Given the description of an element on the screen output the (x, y) to click on. 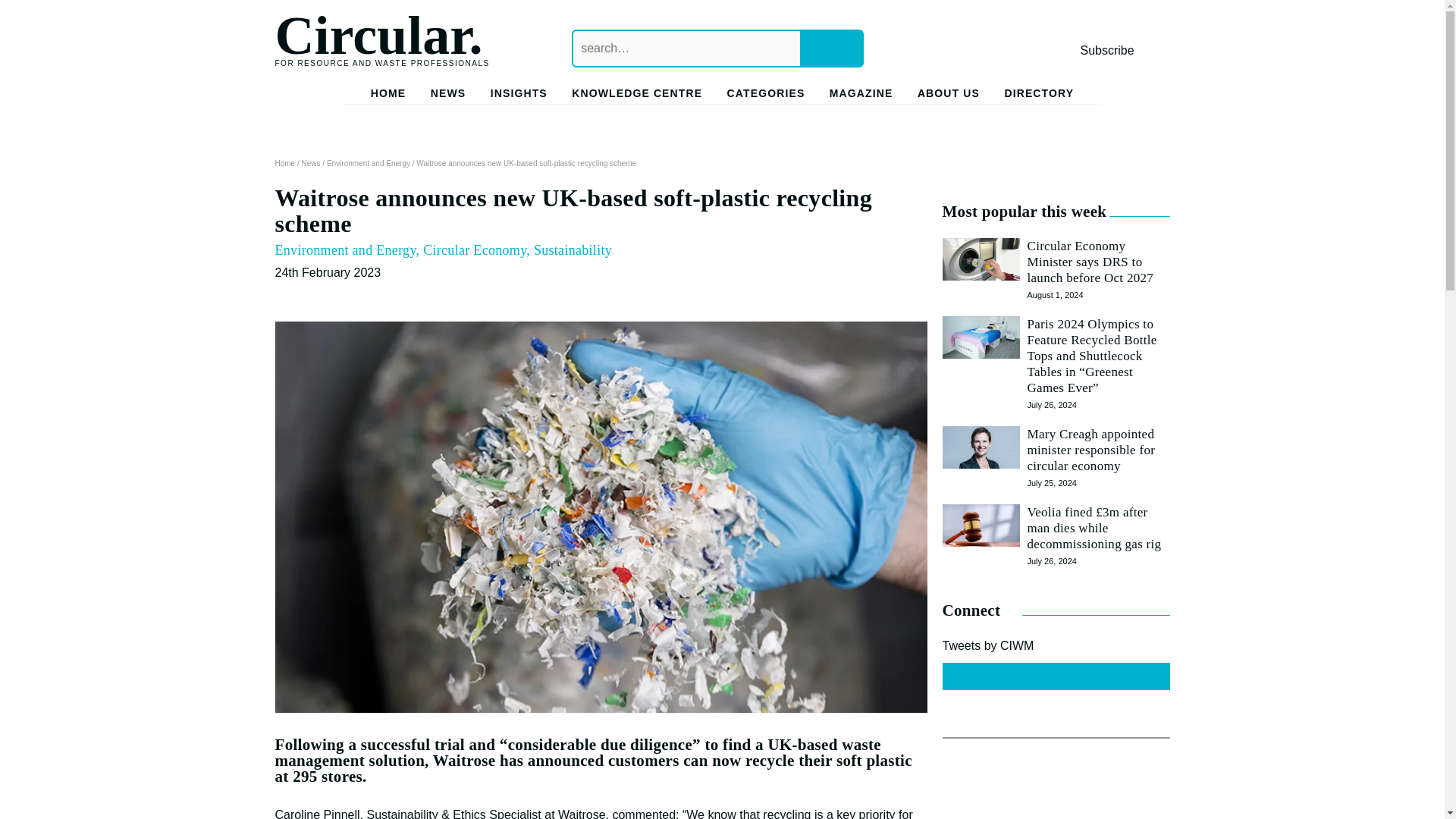
MAGAZINE (861, 95)
CATEGORIES (765, 95)
ABOUT US (948, 95)
DIRECTORY (1039, 95)
NEWS (447, 95)
Subscribe (1107, 50)
KNOWLEDGE CENTRE (636, 95)
HOME (388, 95)
INSIGHTS (518, 95)
Circular. (378, 35)
